Given the description of an element on the screen output the (x, y) to click on. 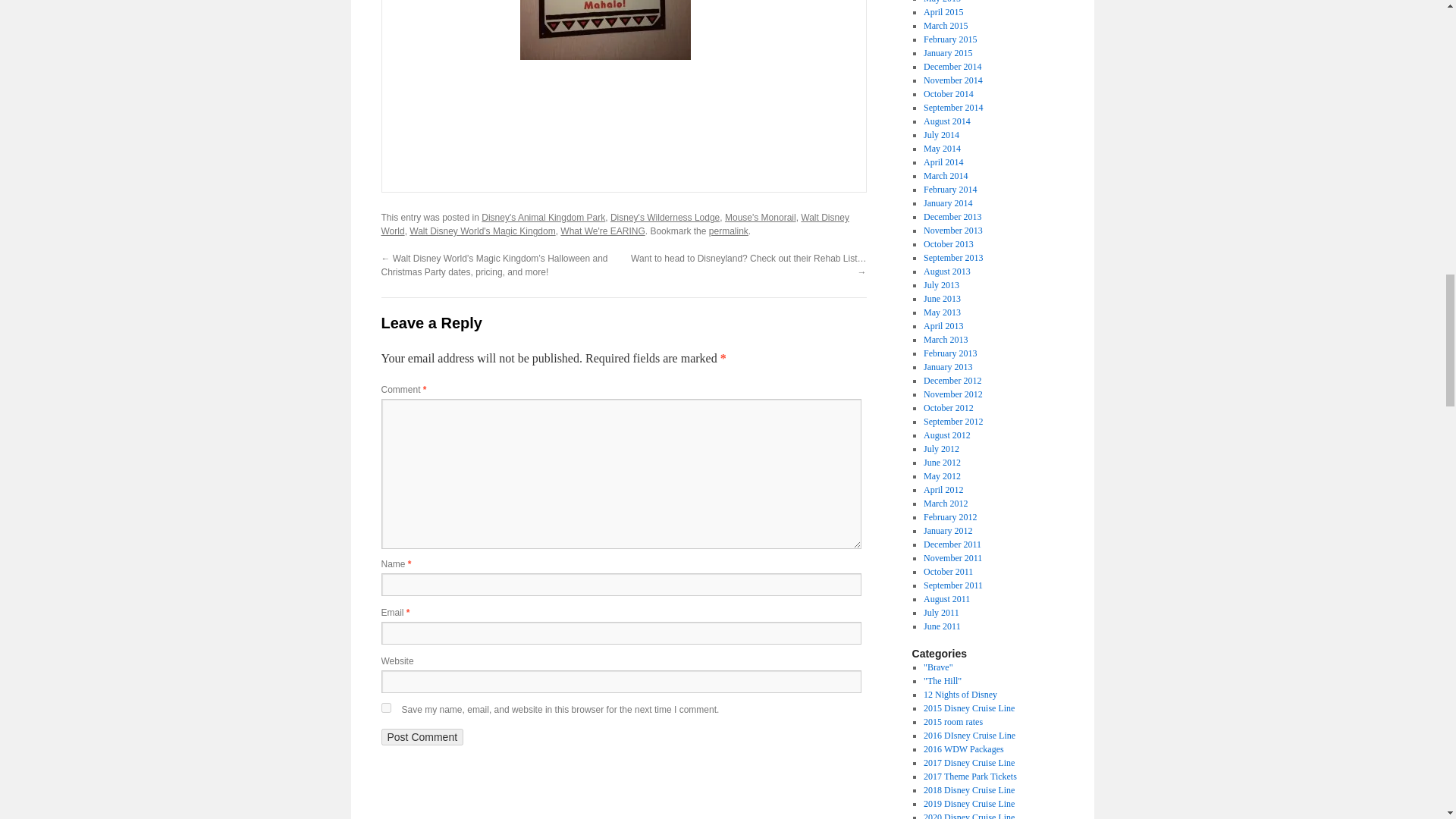
permalink (728, 231)
Post Comment (421, 736)
yes (385, 707)
Walt Disney World's Magic Kingdom (481, 231)
Post Comment (421, 736)
Disney's Wilderness Lodge (664, 217)
Disney's Animal Kingdom Park (543, 217)
Mouse's Monorail (760, 217)
Walt Disney World (614, 224)
What We're EARING (602, 231)
